Given the description of an element on the screen output the (x, y) to click on. 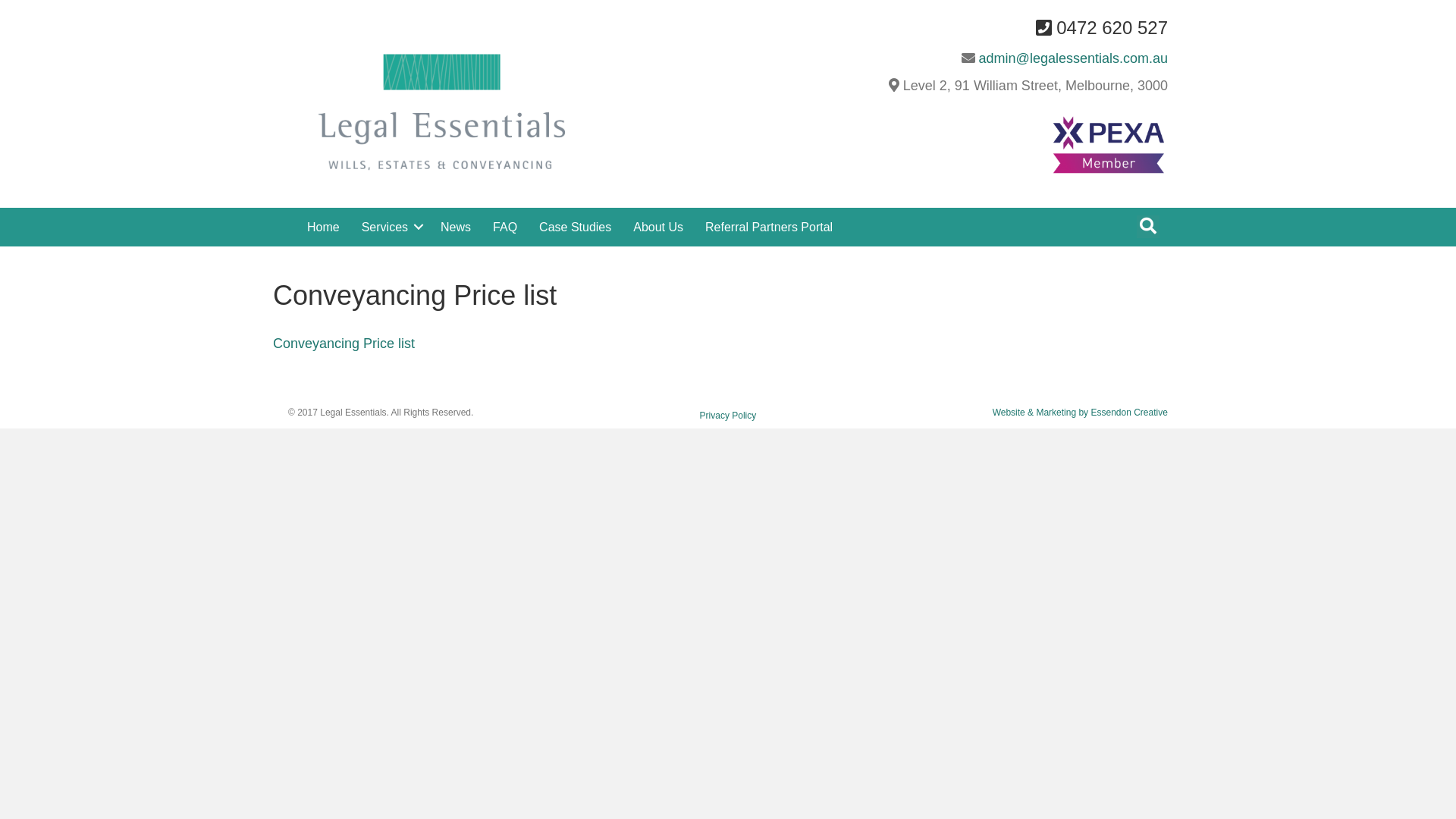
admin@legalessentials.com.au Element type: text (1073, 57)
Website & Marketing by Essendon Creative Element type: text (1079, 412)
Services Element type: text (390, 226)
Referral Partners Portal Element type: text (768, 226)
Case Studies Element type: text (574, 226)
About Us Element type: text (657, 226)
Privacy Policy Element type: text (728, 415)
Home Element type: text (323, 226)
2018-06 LE Logo Element type: hover (441, 111)
Conveyancing Price list Element type: text (343, 343)
PEXA member conveyancing melbourne Element type: hover (1108, 147)
FAQ Element type: text (504, 226)
News Element type: text (455, 226)
